Given the description of an element on the screen output the (x, y) to click on. 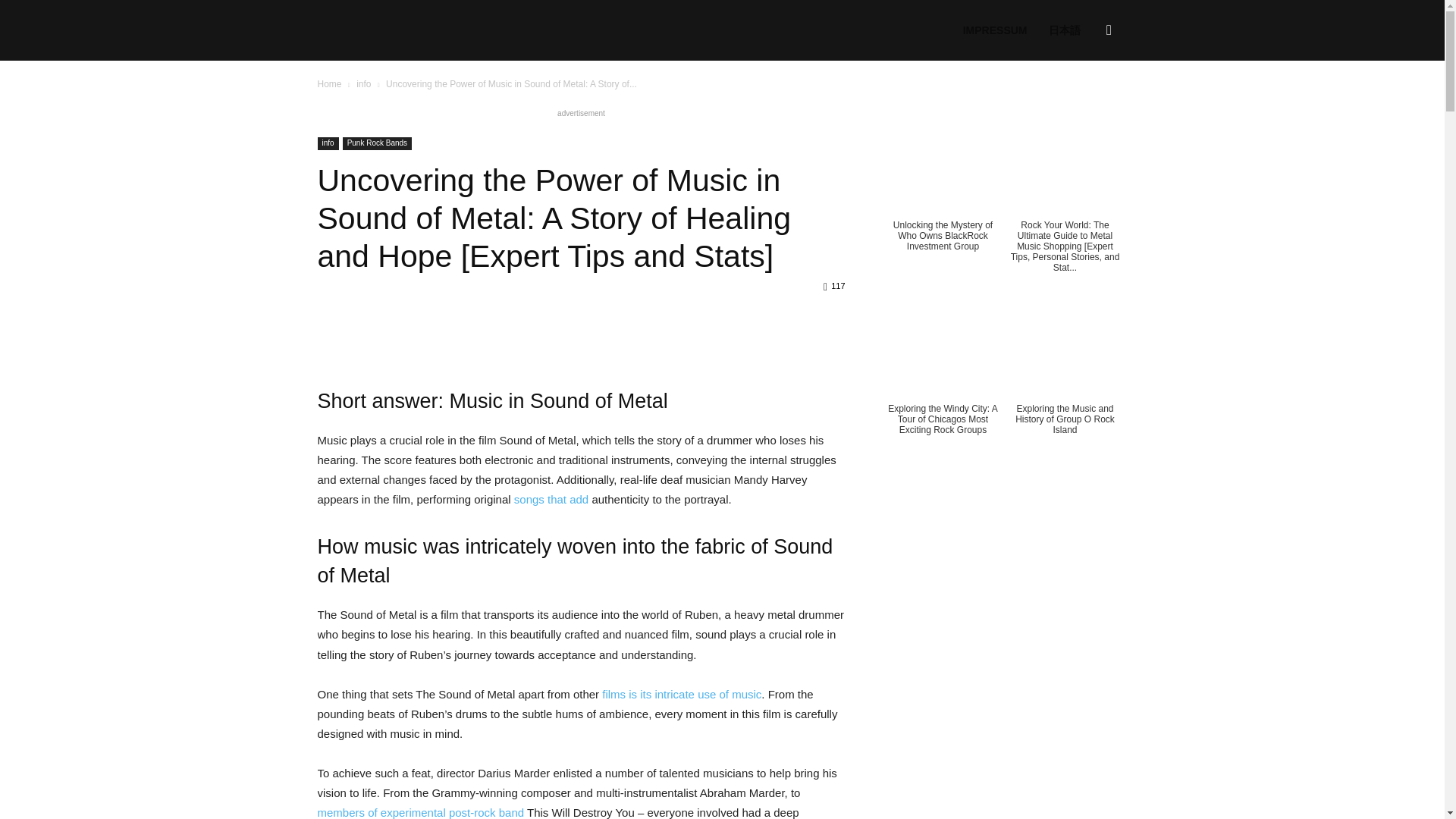
Search (1085, 102)
info (327, 143)
info (363, 83)
members of experimental post-rock band (420, 812)
Punk Rock Bands (377, 143)
IMPRESSUM (995, 30)
songs that add (550, 499)
View all posts in info (363, 83)
films is its intricate use of music (681, 694)
Home (328, 83)
